Given the description of an element on the screen output the (x, y) to click on. 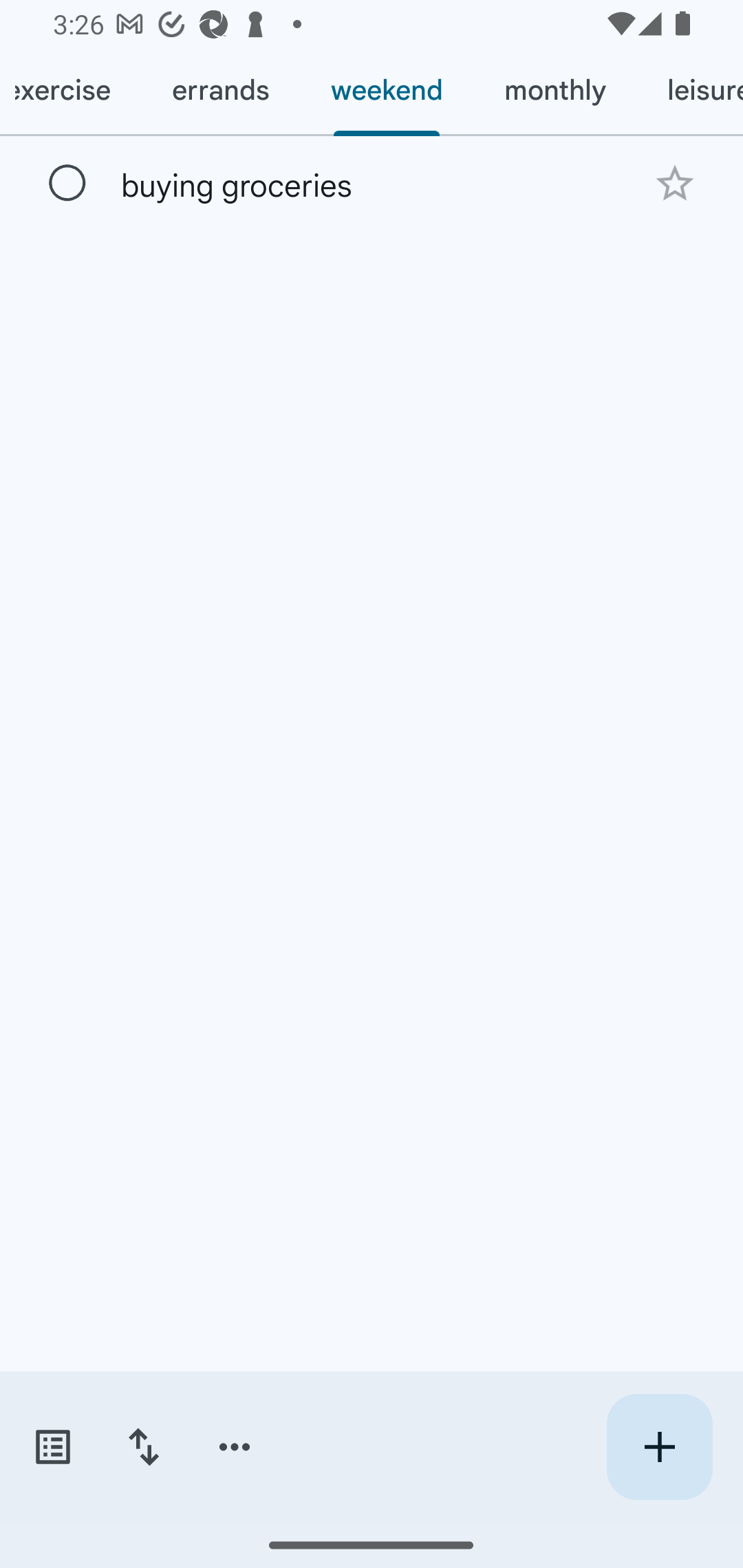
exercise (70, 90)
errands (220, 90)
monthly (554, 90)
leisure (689, 90)
Add star (674, 182)
Mark as complete (67, 183)
Switch task lists (52, 1447)
Create new task (659, 1446)
Change sort order (143, 1446)
More options (234, 1446)
